Given the description of an element on the screen output the (x, y) to click on. 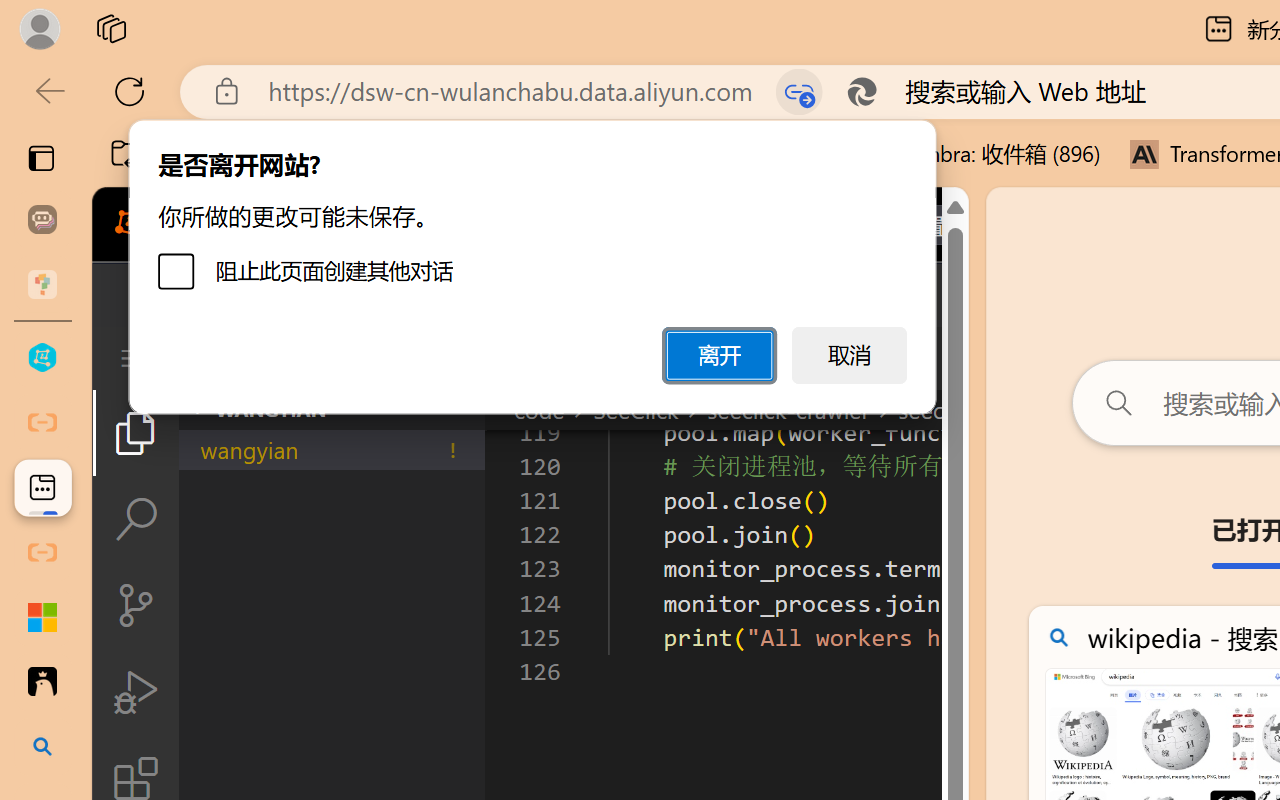
Insert Header Row (735, 112)
Font Color (116, 94)
Text Highlight Color (178, 94)
Font Color (116, 114)
